Given the description of an element on the screen output the (x, y) to click on. 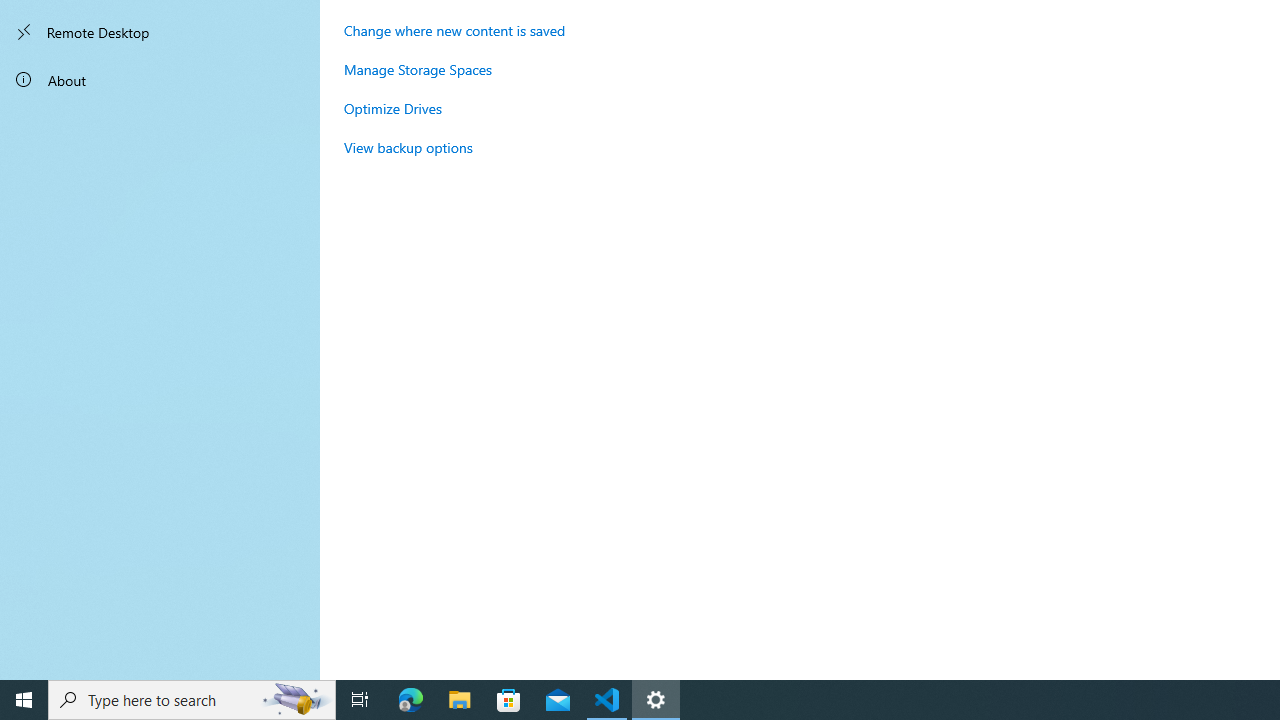
View backup options (408, 147)
